Given the description of an element on the screen output the (x, y) to click on. 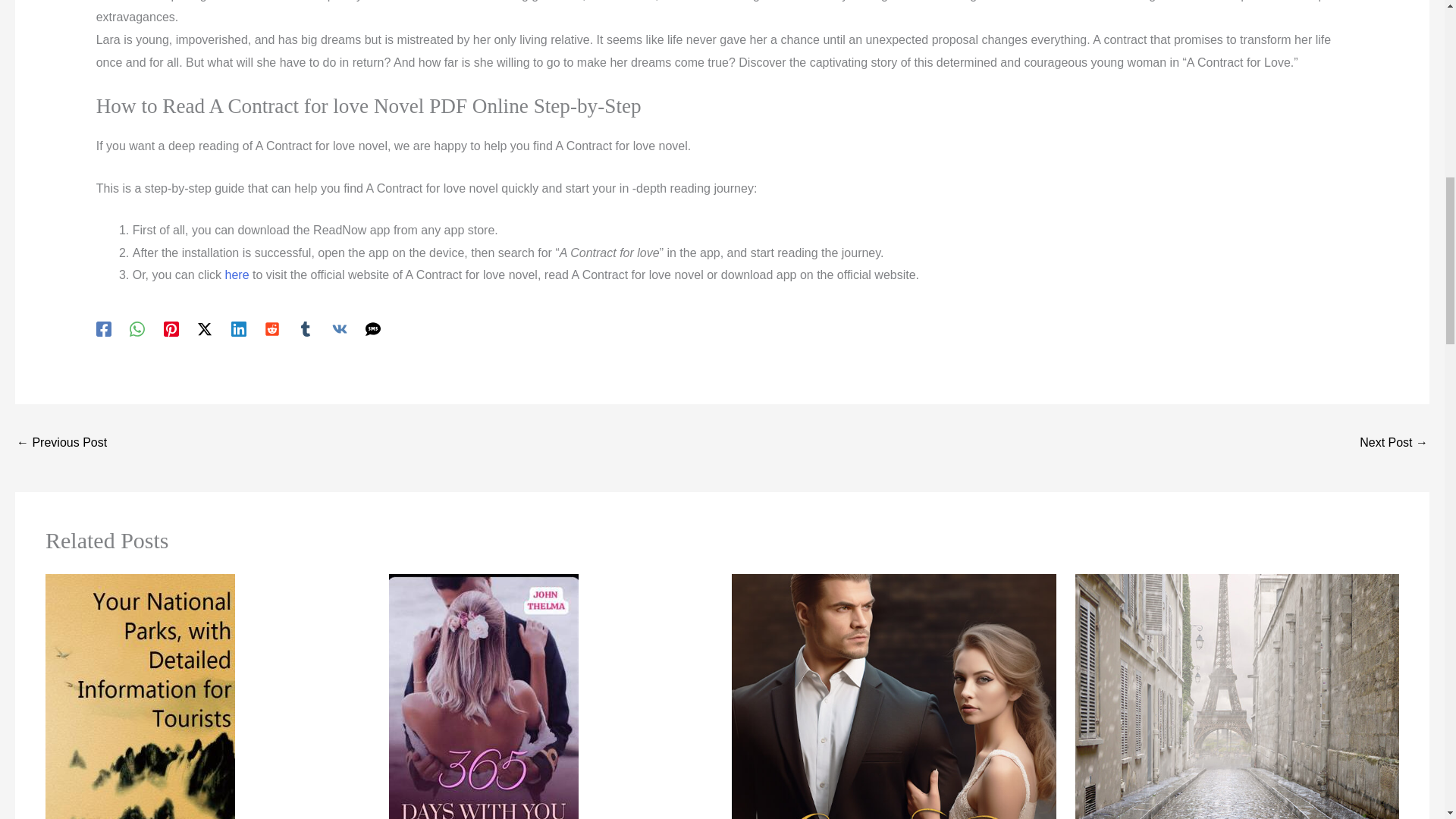
here (236, 274)
How to Read Alpha Blake Novel Completed Step-by-Step (1393, 443)
